Given the description of an element on the screen output the (x, y) to click on. 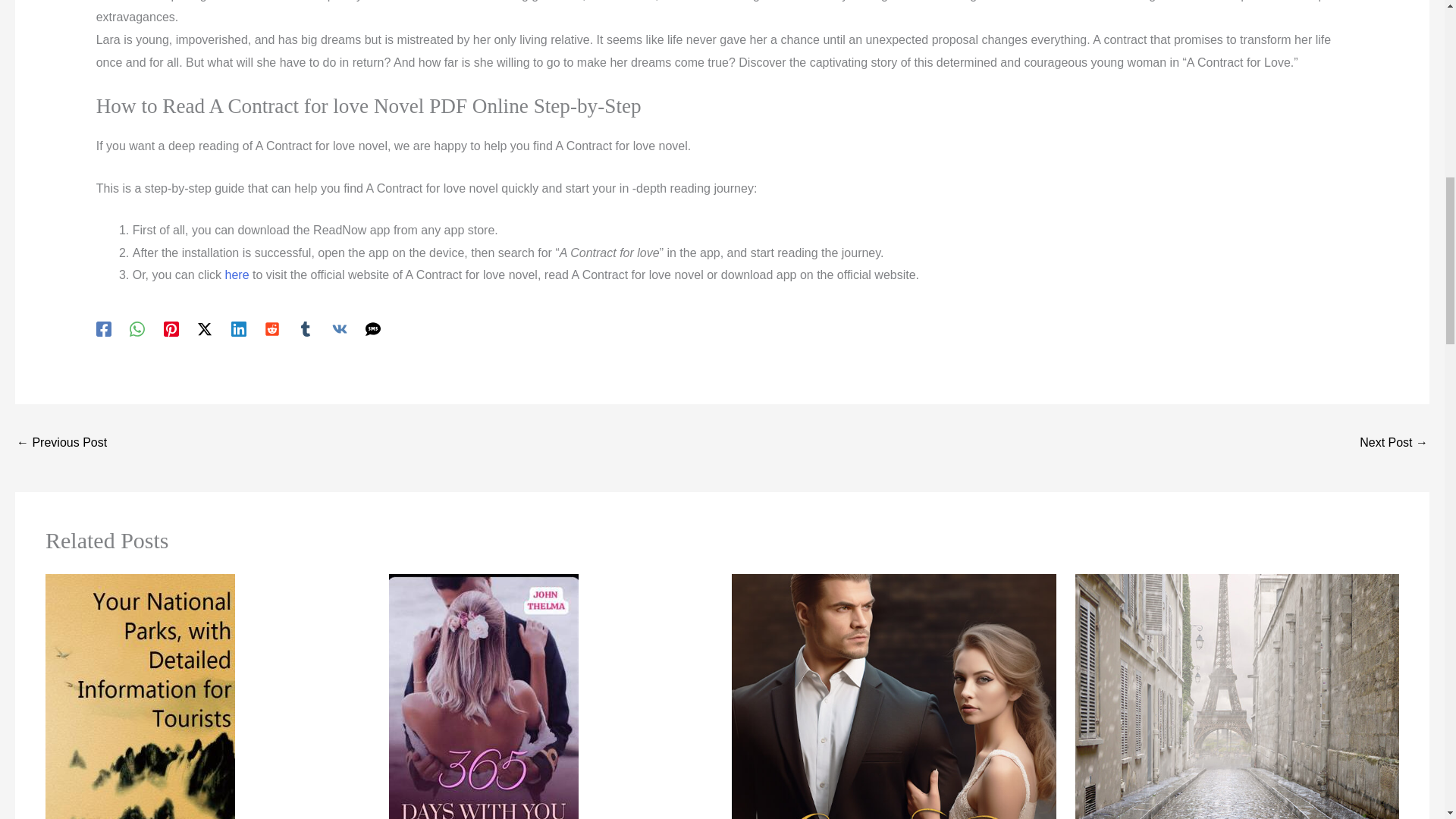
here (236, 274)
How to Read Alpha Blake Novel Completed Step-by-Step (1393, 443)
